Given the description of an element on the screen output the (x, y) to click on. 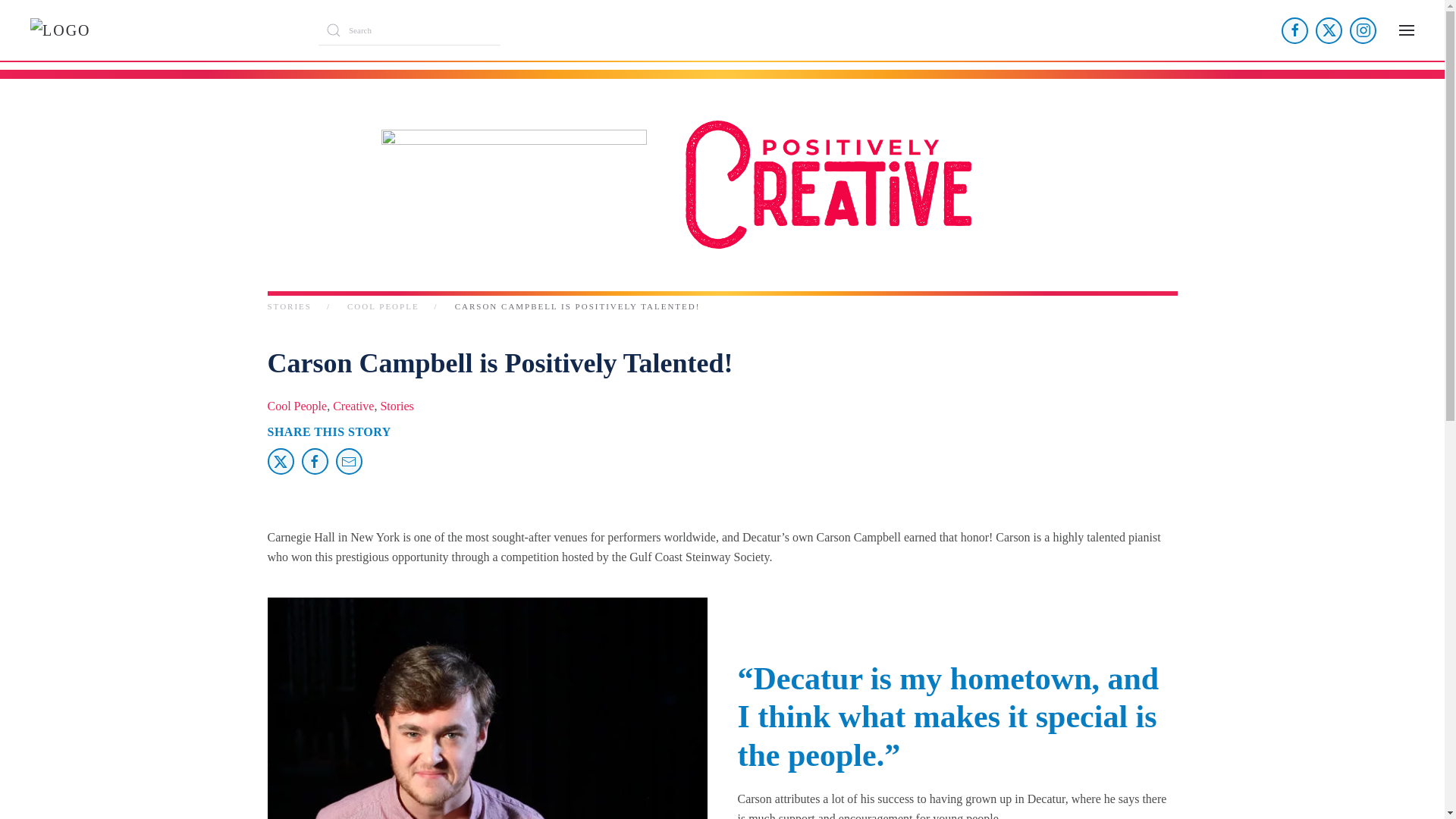
Mailto (347, 461)
